Given the description of an element on the screen output the (x, y) to click on. 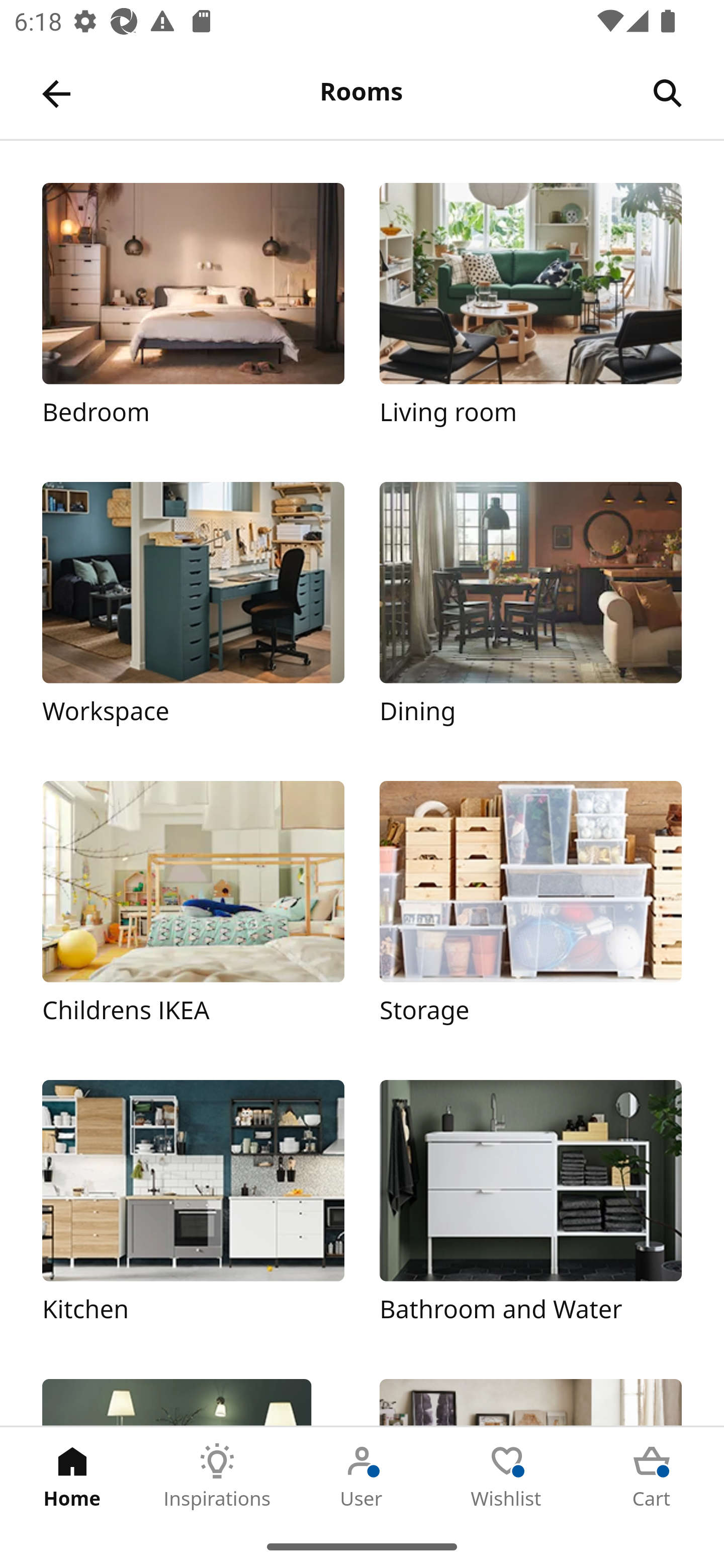
Bedroom (192, 314)
Living room (530, 314)
Workspace (192, 613)
Dining (530, 613)
Childrens IKEA (192, 912)
Storage (530, 912)
Kitchen (192, 1211)
Bathroom and Water (530, 1211)
Home
Tab 1 of 5 (72, 1476)
Inspirations
Tab 2 of 5 (216, 1476)
User
Tab 3 of 5 (361, 1476)
Wishlist
Tab 4 of 5 (506, 1476)
Cart
Tab 5 of 5 (651, 1476)
